Given the description of an element on the screen output the (x, y) to click on. 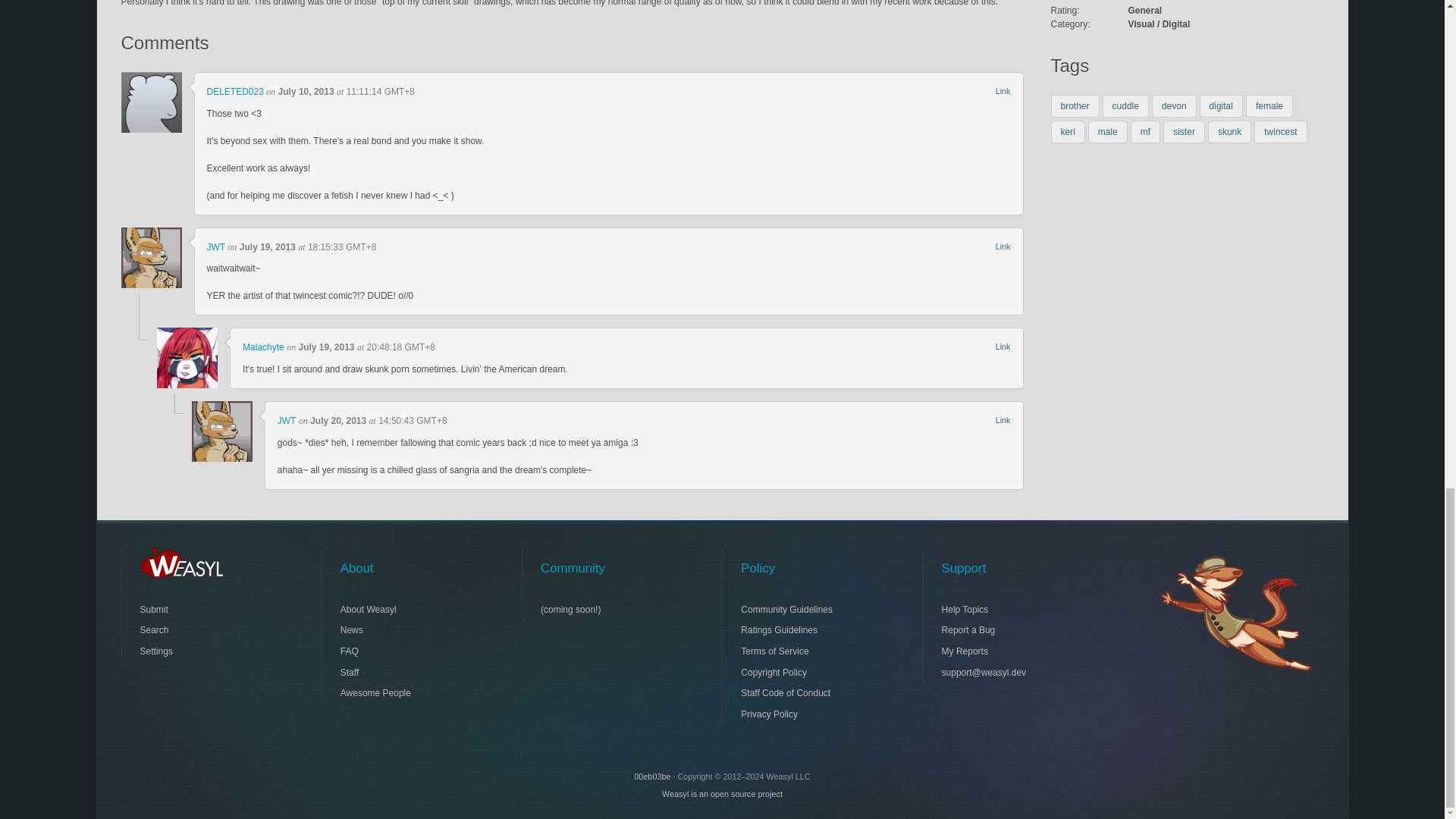
DELETED023 (234, 91)
Link (1002, 90)
cuddle (1125, 106)
mf (1145, 131)
keri (1067, 131)
skunk (1229, 131)
female (1269, 106)
brother (1075, 106)
male (1106, 131)
twincest (1279, 131)
digital (1221, 106)
sister (1184, 131)
devon (1173, 106)
